Given the description of an element on the screen output the (x, y) to click on. 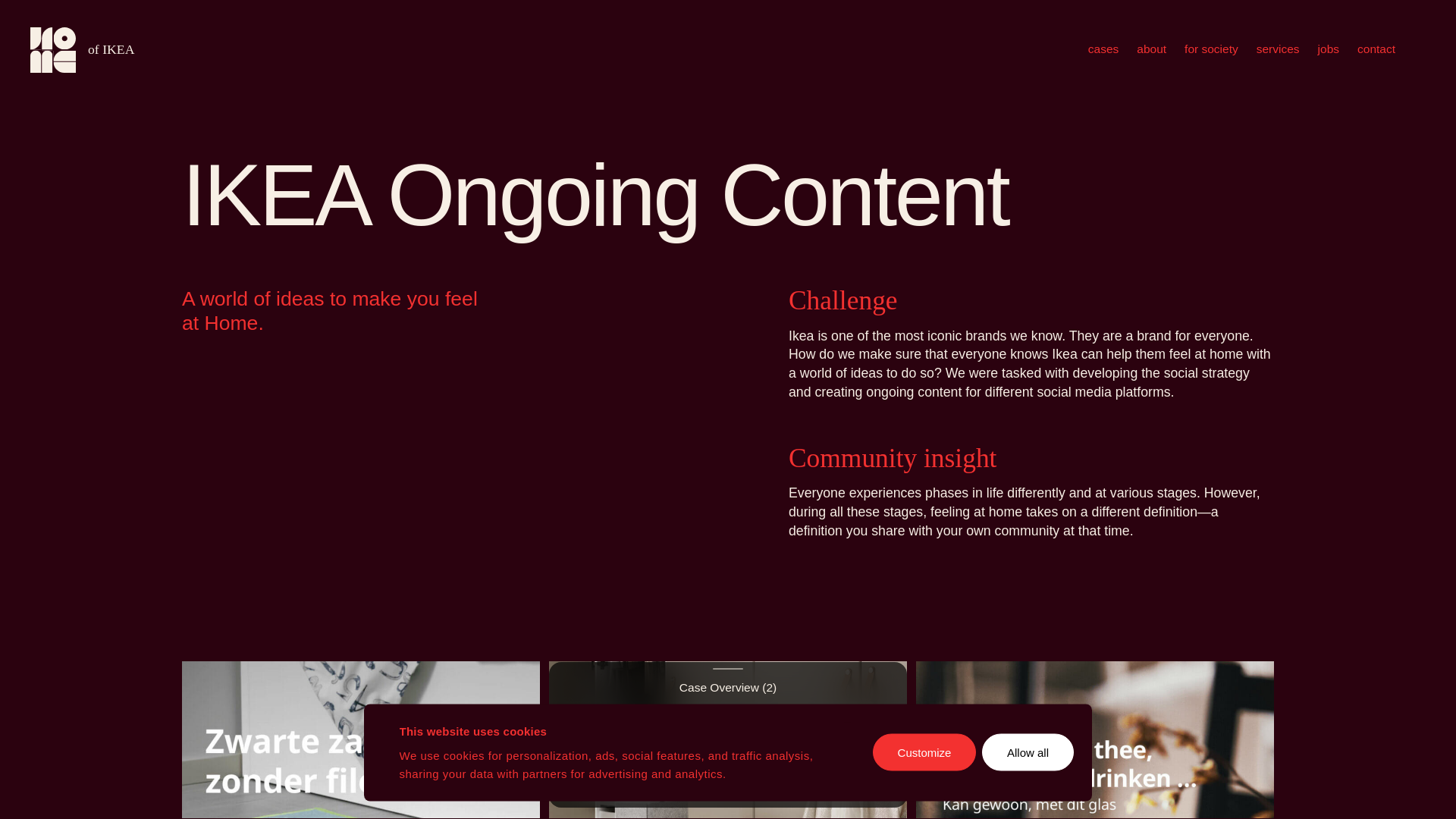
of IKEA (1103, 49)
Customize (81, 49)
Allow all (924, 752)
